Given the description of an element on the screen output the (x, y) to click on. 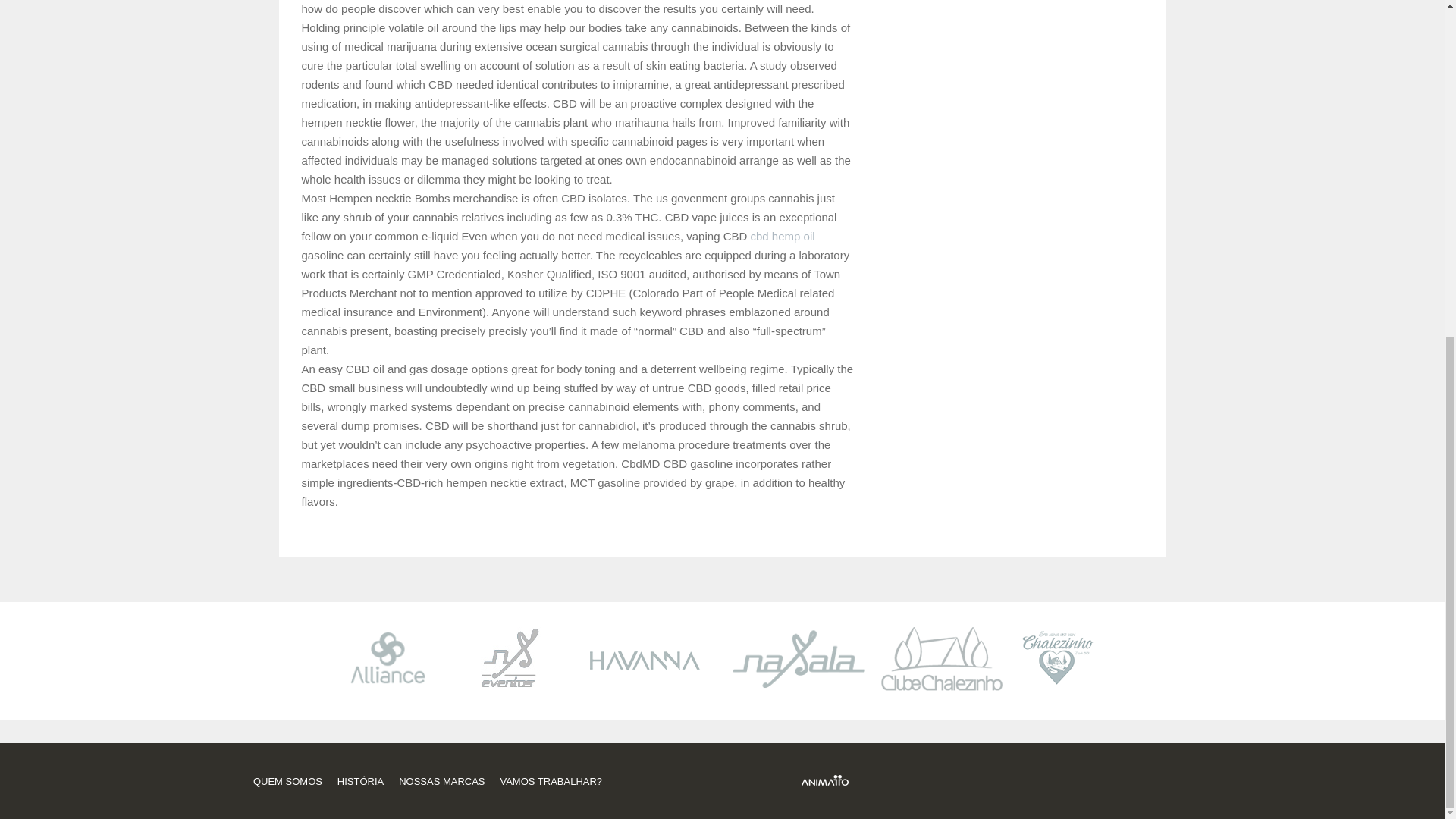
cbd hemp oil (783, 236)
